Given the description of an element on the screen output the (x, y) to click on. 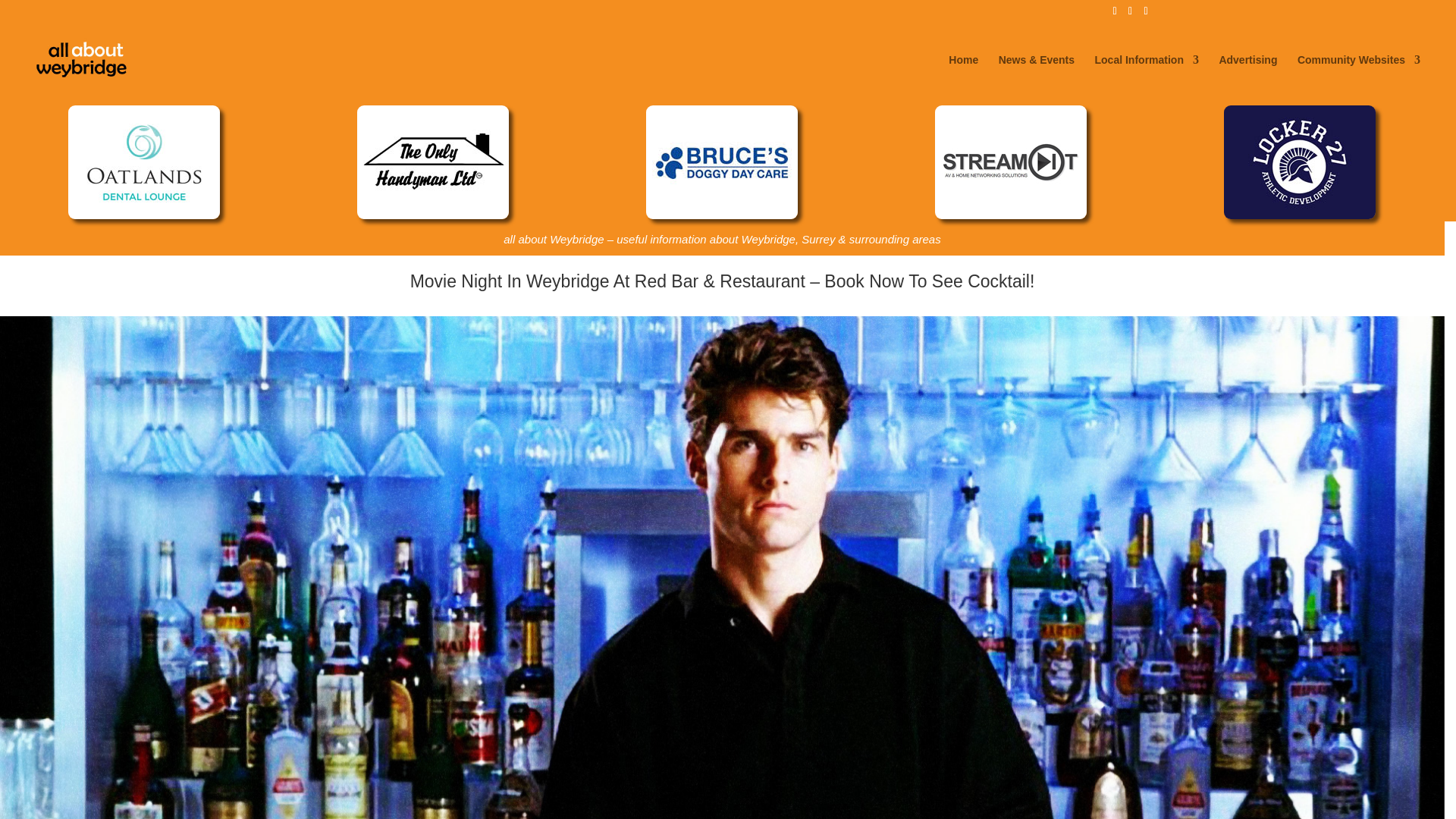
Local Information (1146, 74)
Oatlands Dental Lounge Weybridge Surrey Dental Practice (143, 162)
Community Websites (1359, 74)
Advertising (1247, 74)
